Given the description of an element on the screen output the (x, y) to click on. 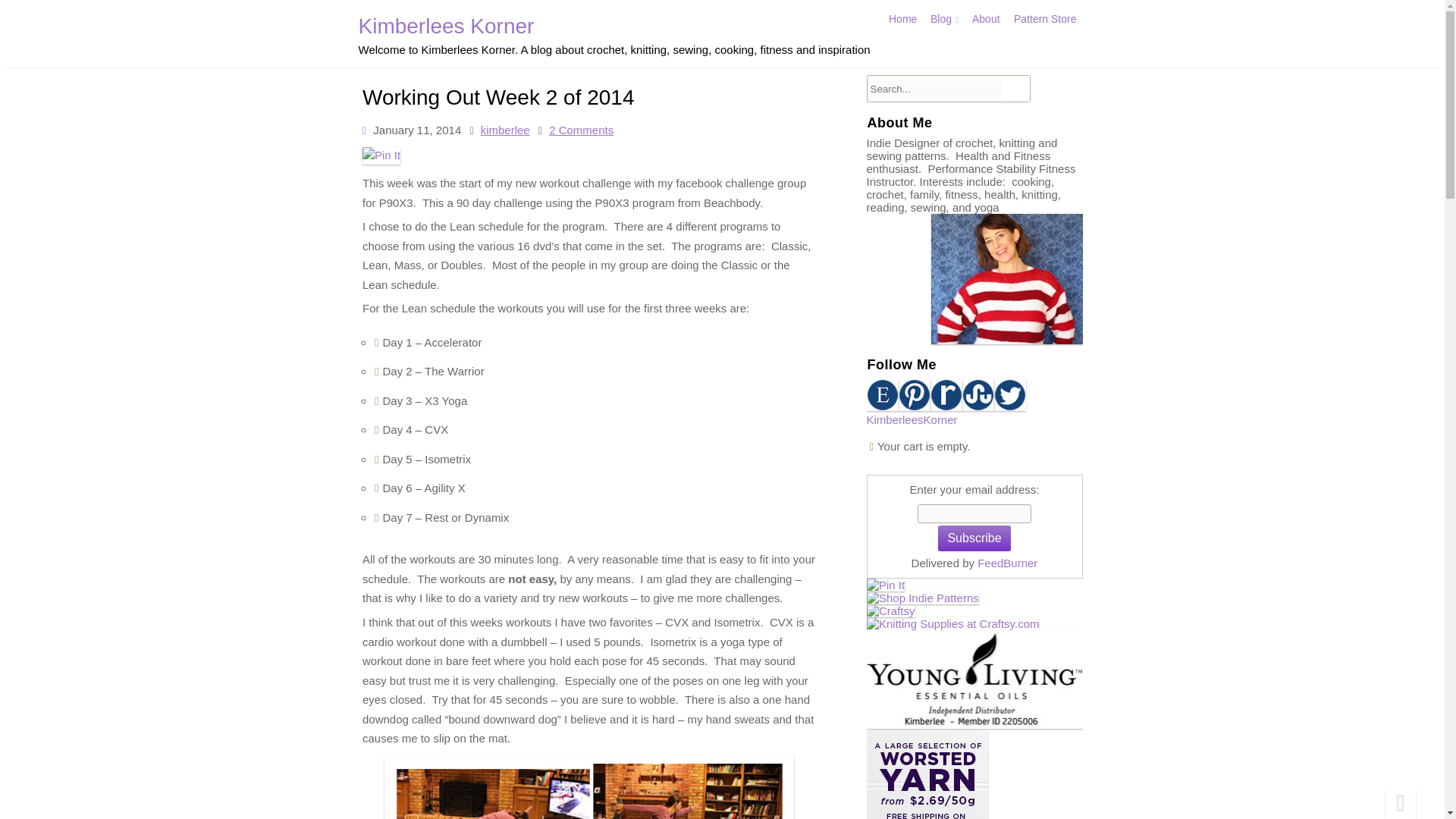
Pattern Store (1038, 22)
Pin It (385, 176)
Kimberlees Korner (613, 30)
Subscribe (973, 538)
2 Comments (601, 817)
Blog (942, 20)
About (983, 22)
Home (901, 19)
Posts by kimberlee (506, 151)
